Given the description of an element on the screen output the (x, y) to click on. 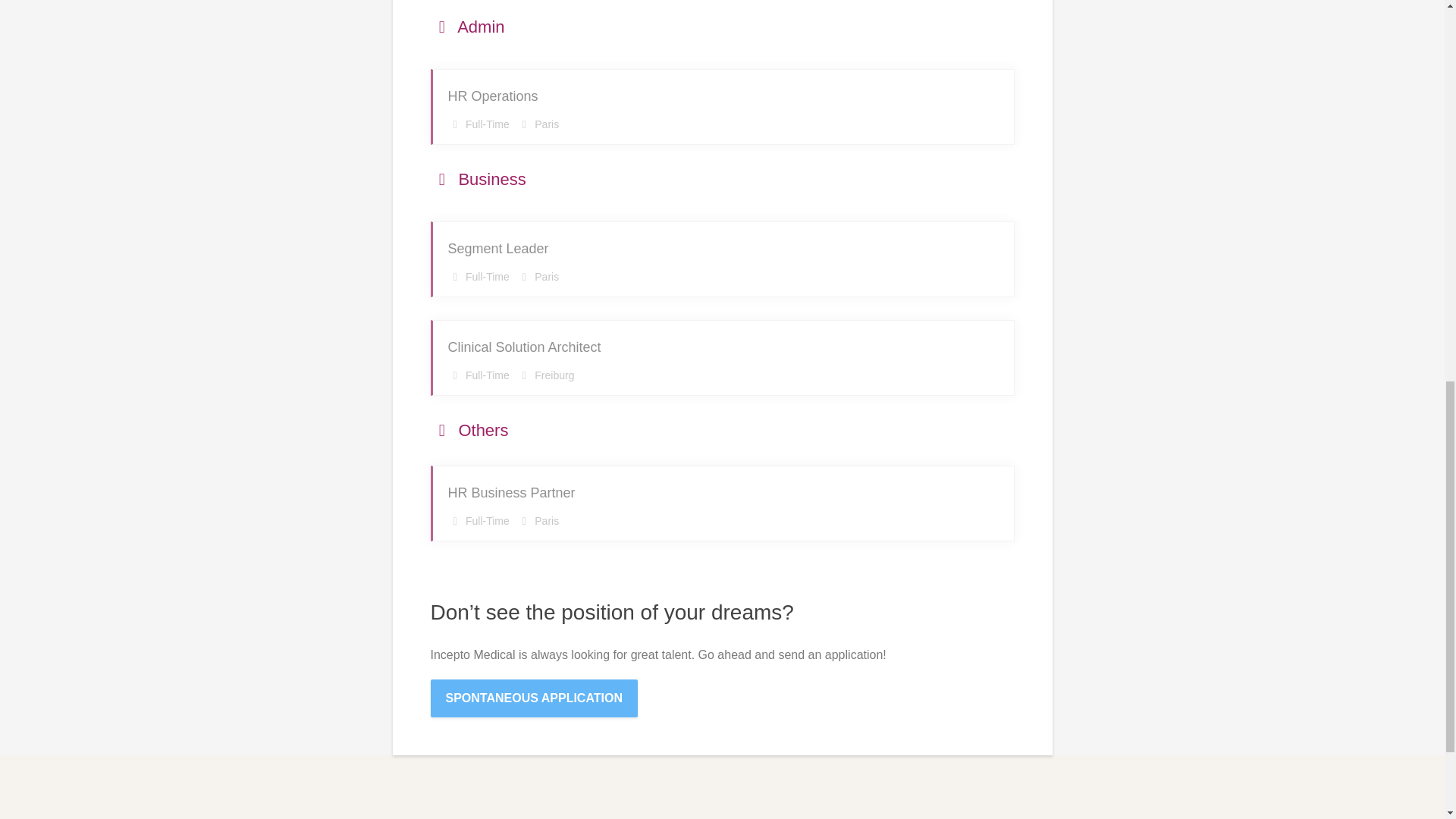
SPONTANEOUS APPLICATION (722, 106)
Admin (534, 698)
Business (467, 27)
